Given the description of an element on the screen output the (x, y) to click on. 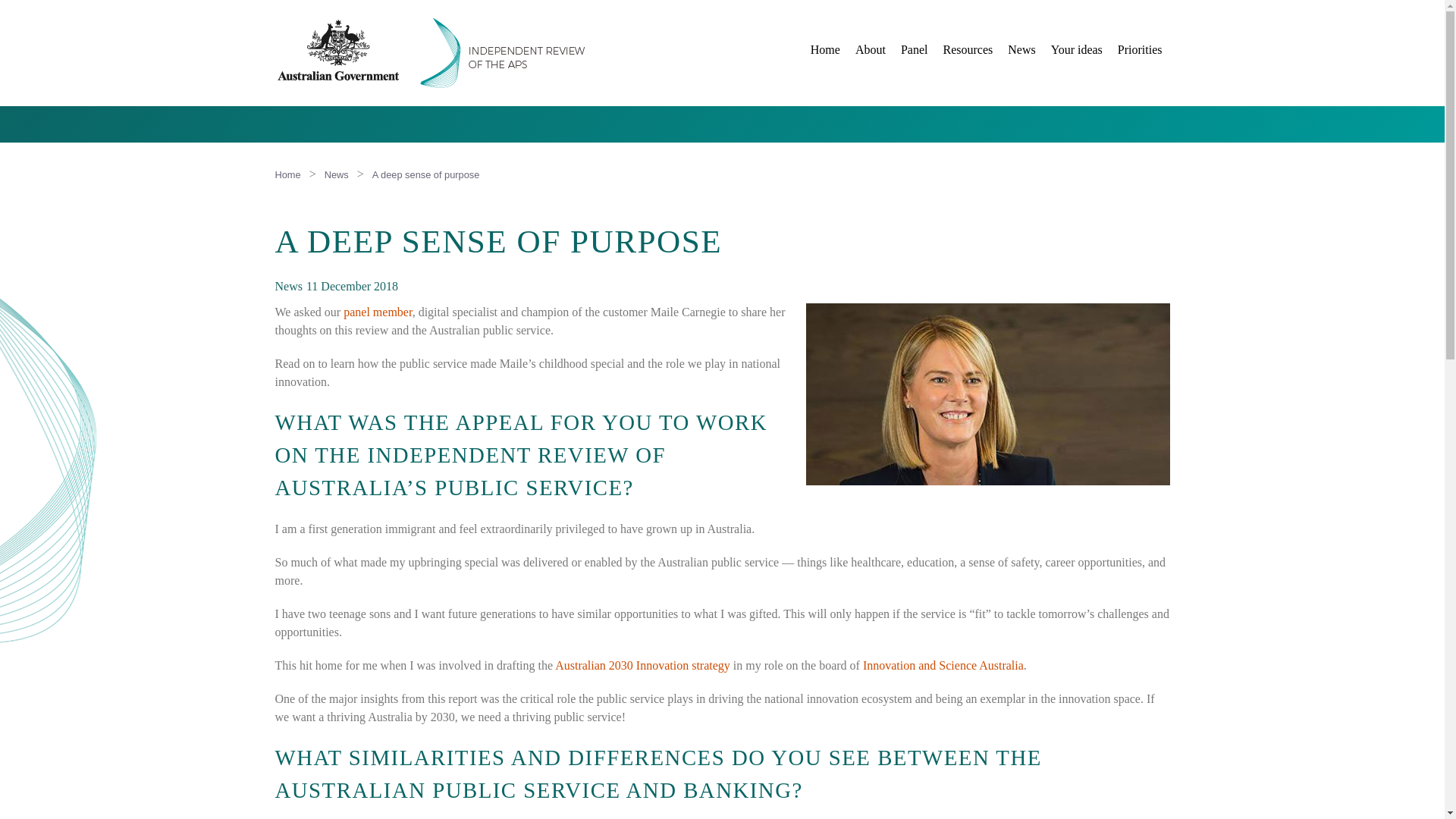
About (870, 50)
Home (825, 50)
panel member (377, 311)
Resources (967, 50)
Priorities (1139, 50)
Skip to main content (683, 1)
News (1021, 50)
News (336, 174)
Innovation and Science Australia (943, 665)
Australian 2030 Innovation strategy (642, 665)
Home (287, 174)
Panel (914, 50)
